Given the description of an element on the screen output the (x, y) to click on. 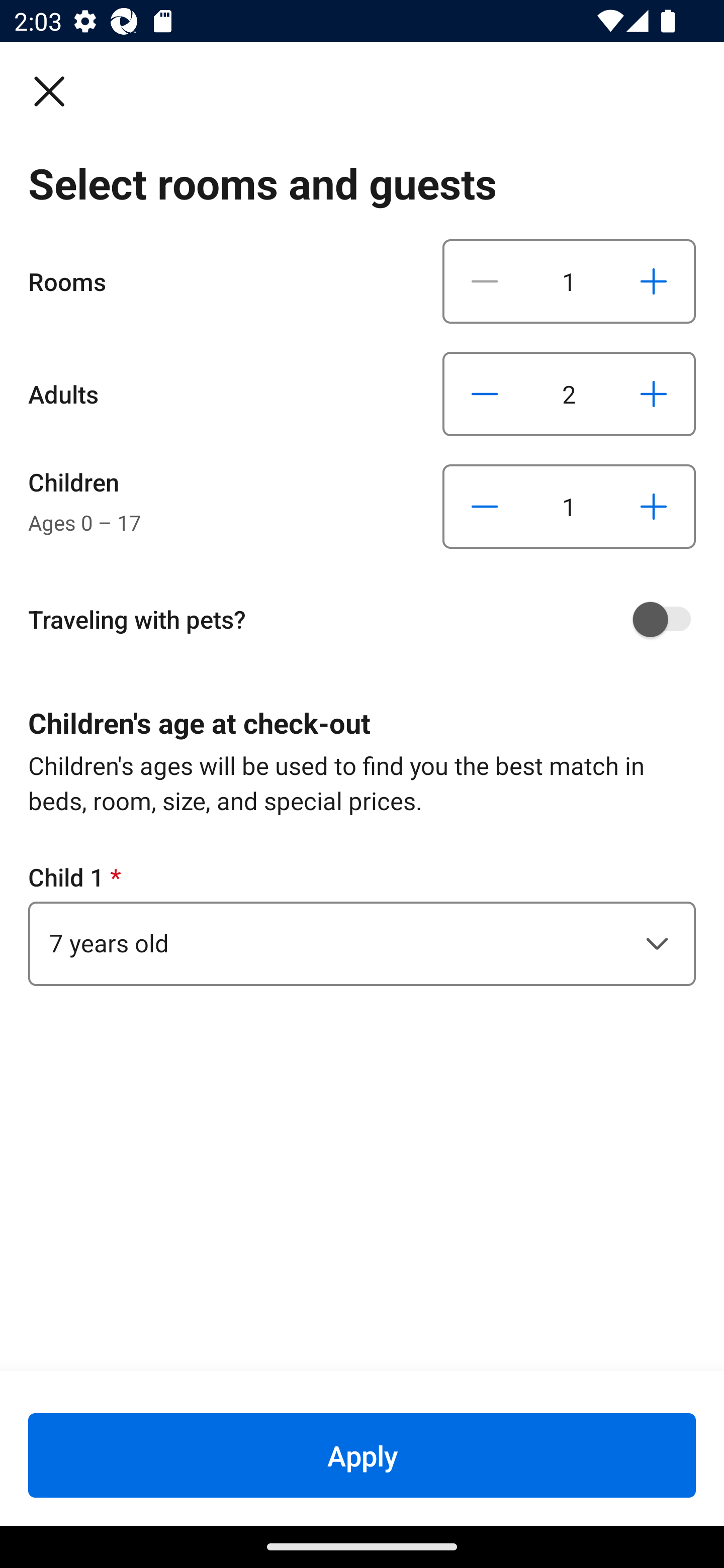
Decrease (484, 281)
Increase (653, 281)
Decrease (484, 393)
Increase (653, 393)
Decrease (484, 506)
Increase (653, 506)
Traveling with pets? (369, 619)
Child 1
required Child 1 * 7 years old (361, 922)
Apply (361, 1454)
